Given the description of an element on the screen output the (x, y) to click on. 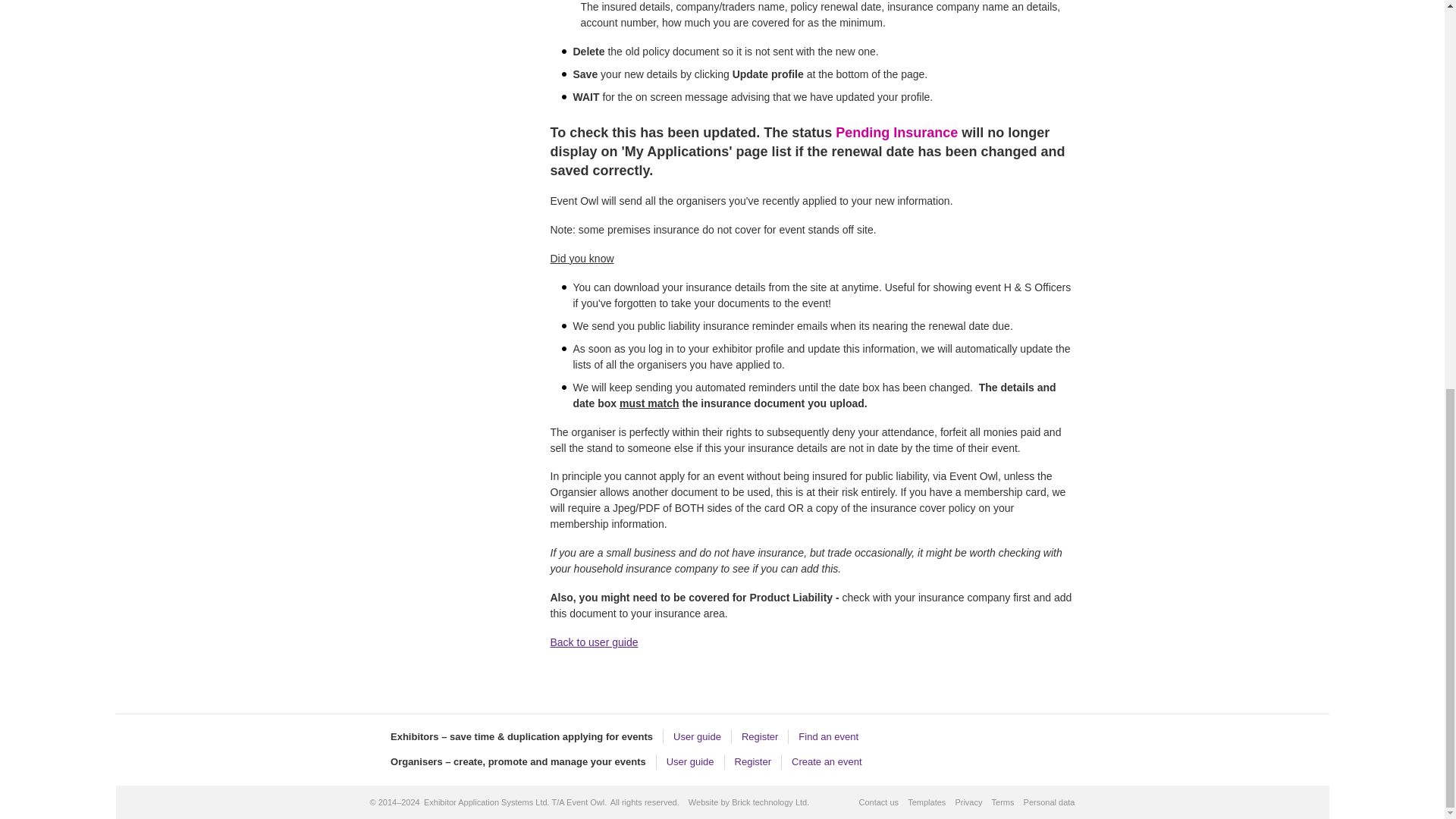
Our privacy policy (968, 801)
Register (759, 736)
User guide (690, 761)
Register (753, 761)
Privacy (968, 801)
Personal data (1049, 801)
Terms (1002, 801)
Find an event (828, 736)
Brick technology Ltd. (770, 801)
Contact us (878, 801)
Back to user guide (594, 642)
Contact us (878, 801)
Templates (925, 801)
Event Owl Terms and Conditions (1002, 801)
User guide (696, 736)
